Given the description of an element on the screen output the (x, y) to click on. 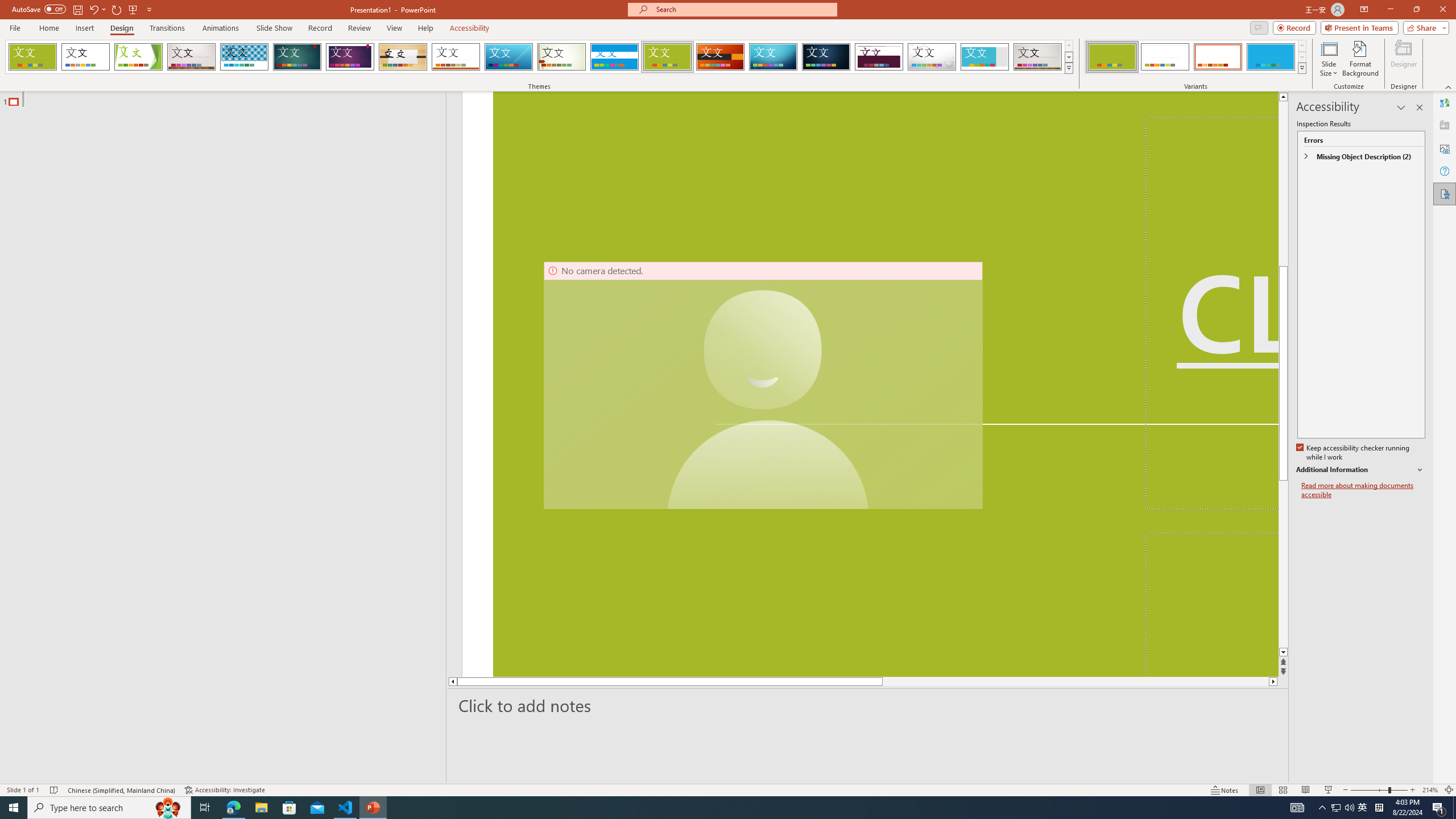
Wisp (561, 56)
Slide Size (1328, 58)
AutomationID: SlideThemesGallery (539, 56)
Ion (296, 56)
Subtitle TextBox (1211, 604)
Outline (227, 99)
